Given the description of an element on the screen output the (x, y) to click on. 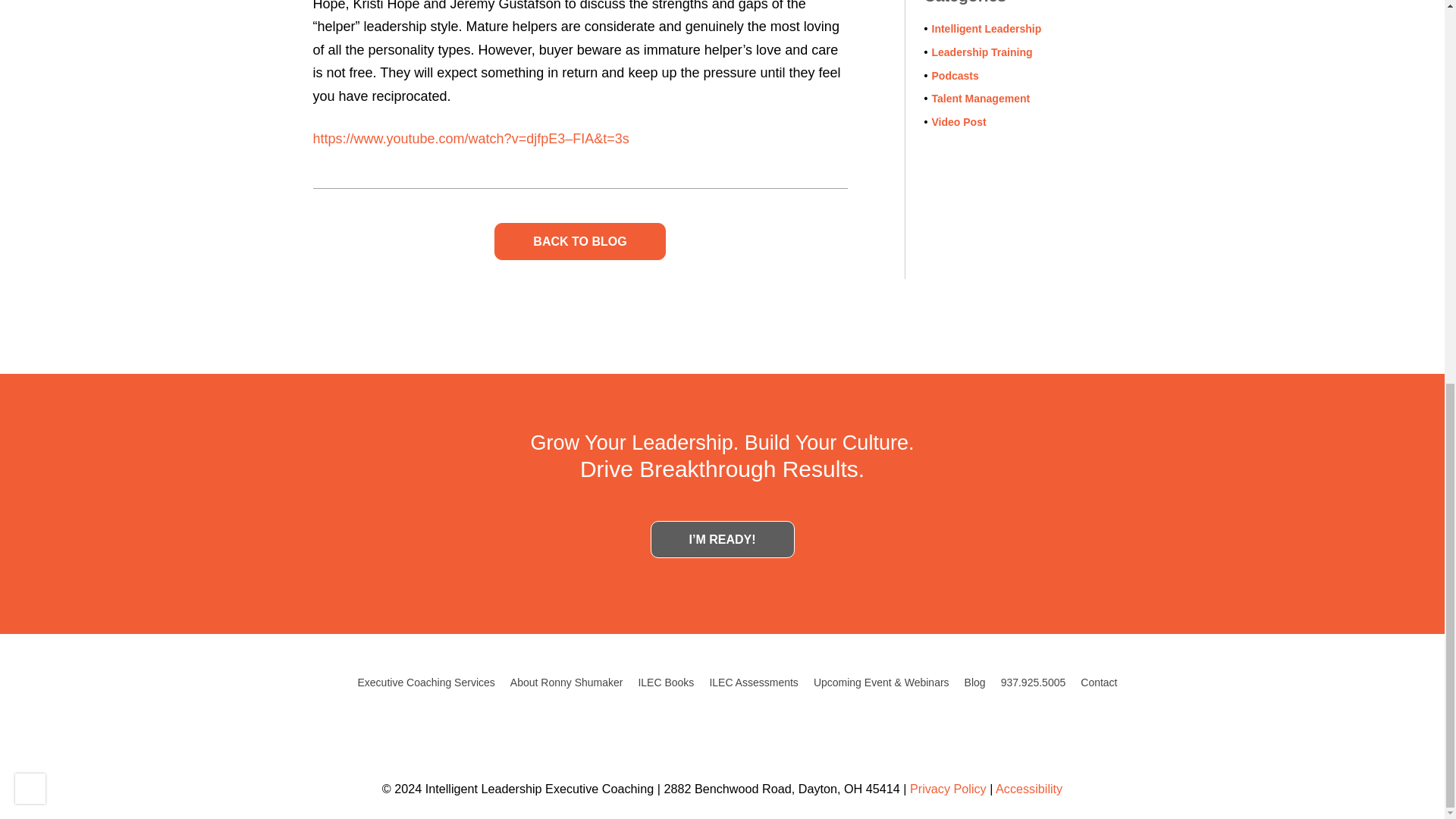
Podcast: Is Time Passing You and Your Company By? (580, 241)
